Given the description of an element on the screen output the (x, y) to click on. 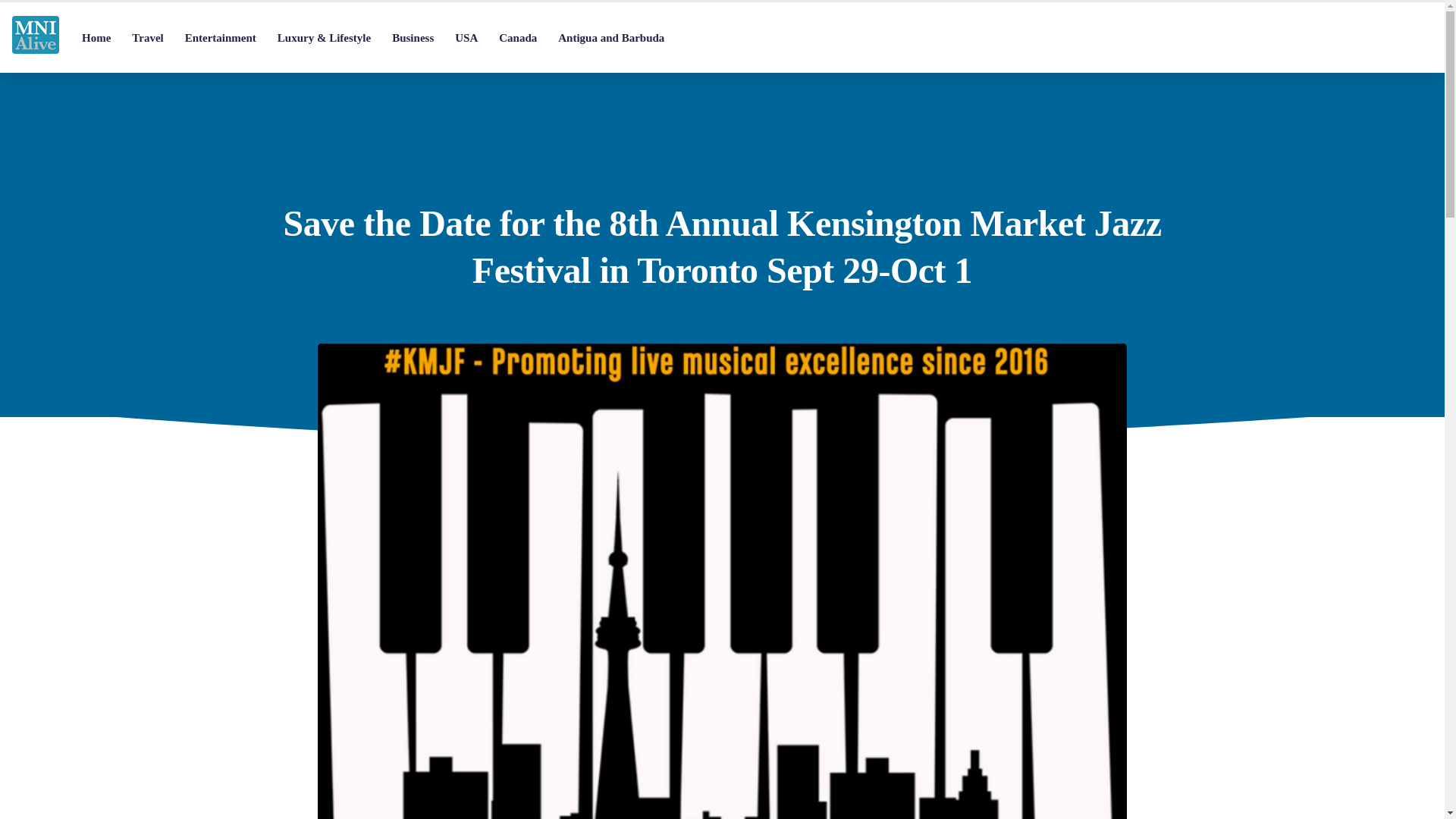
Travel (146, 37)
Home (95, 37)
Business (412, 37)
USA (465, 37)
Entertainment (220, 37)
Canada (517, 37)
Antigua and Barbuda (611, 37)
